Given the description of an element on the screen output the (x, y) to click on. 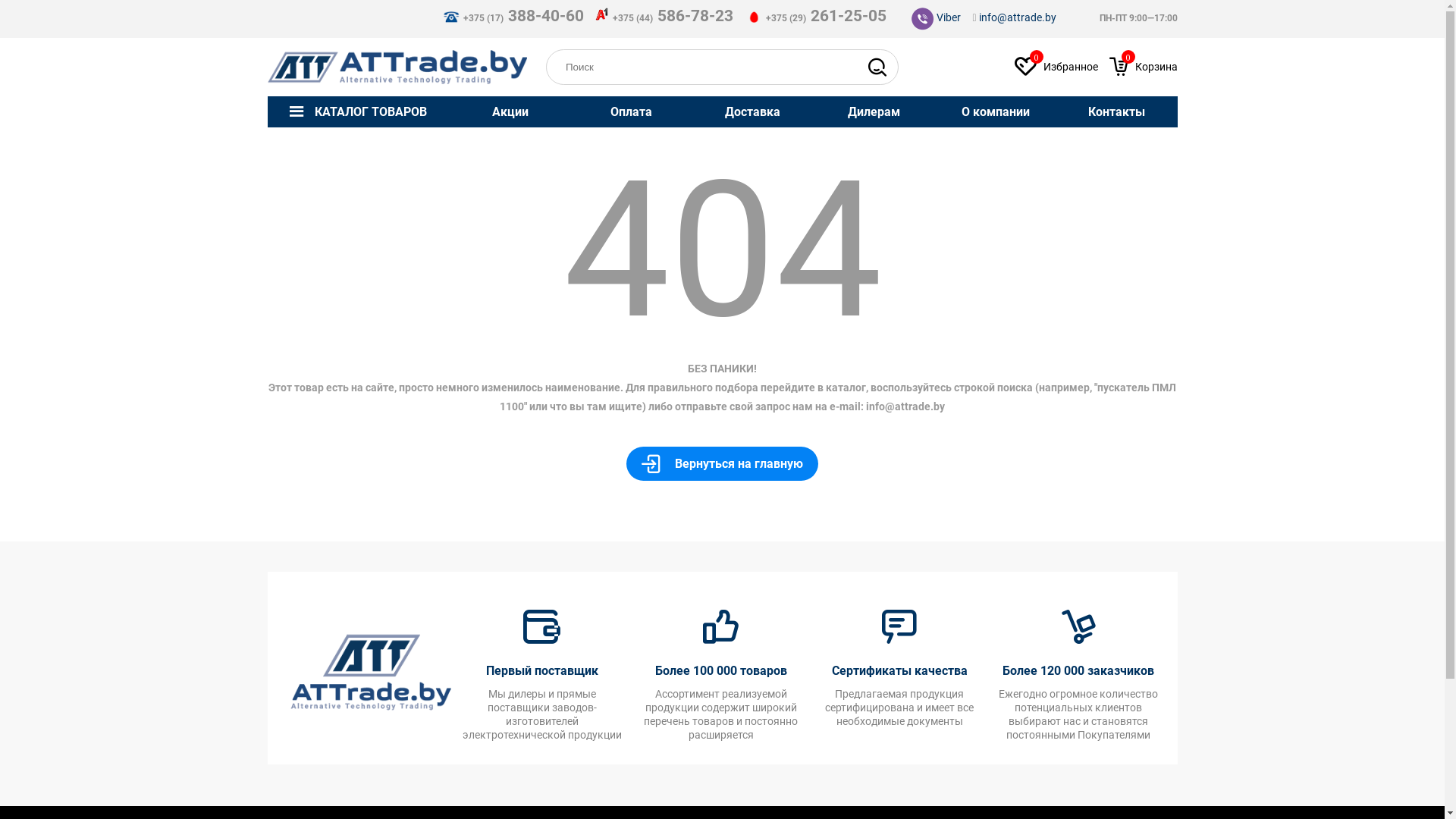
 +375 (17)  388-40-60 Element type: text (512, 17)
info@attrade.by Element type: text (905, 406)
 Viber Element type: text (935, 17)
info@attrade.by Element type: text (1016, 17)
  +375 (44)  586-78-23 Element type: text (664, 17)
 +375 (29)  261-25-05 Element type: text (815, 17)
